Given the description of an element on the screen output the (x, y) to click on. 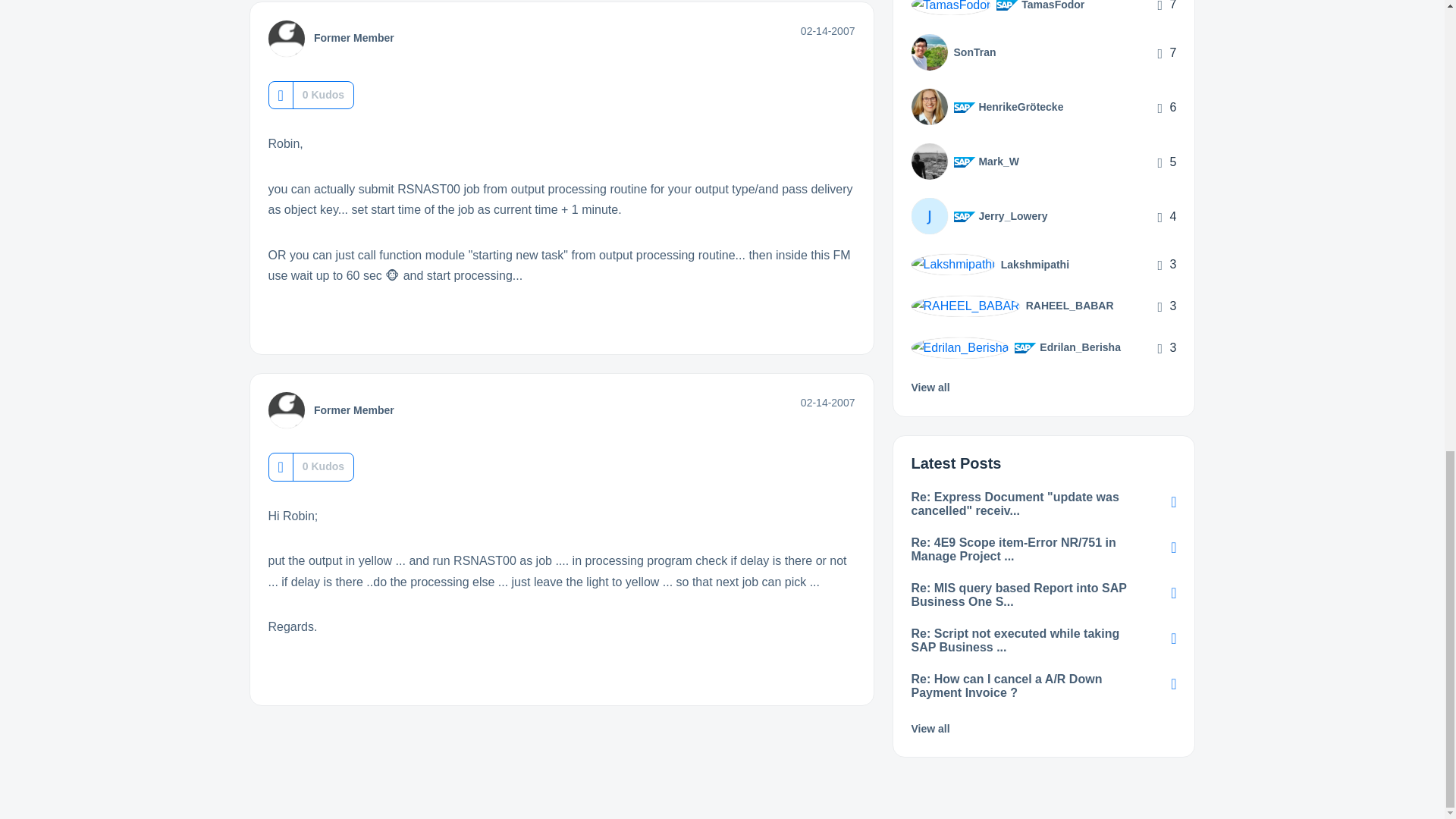
Posted on (828, 30)
The total number of kudos this post has received. (323, 94)
